Given the description of an element on the screen output the (x, y) to click on. 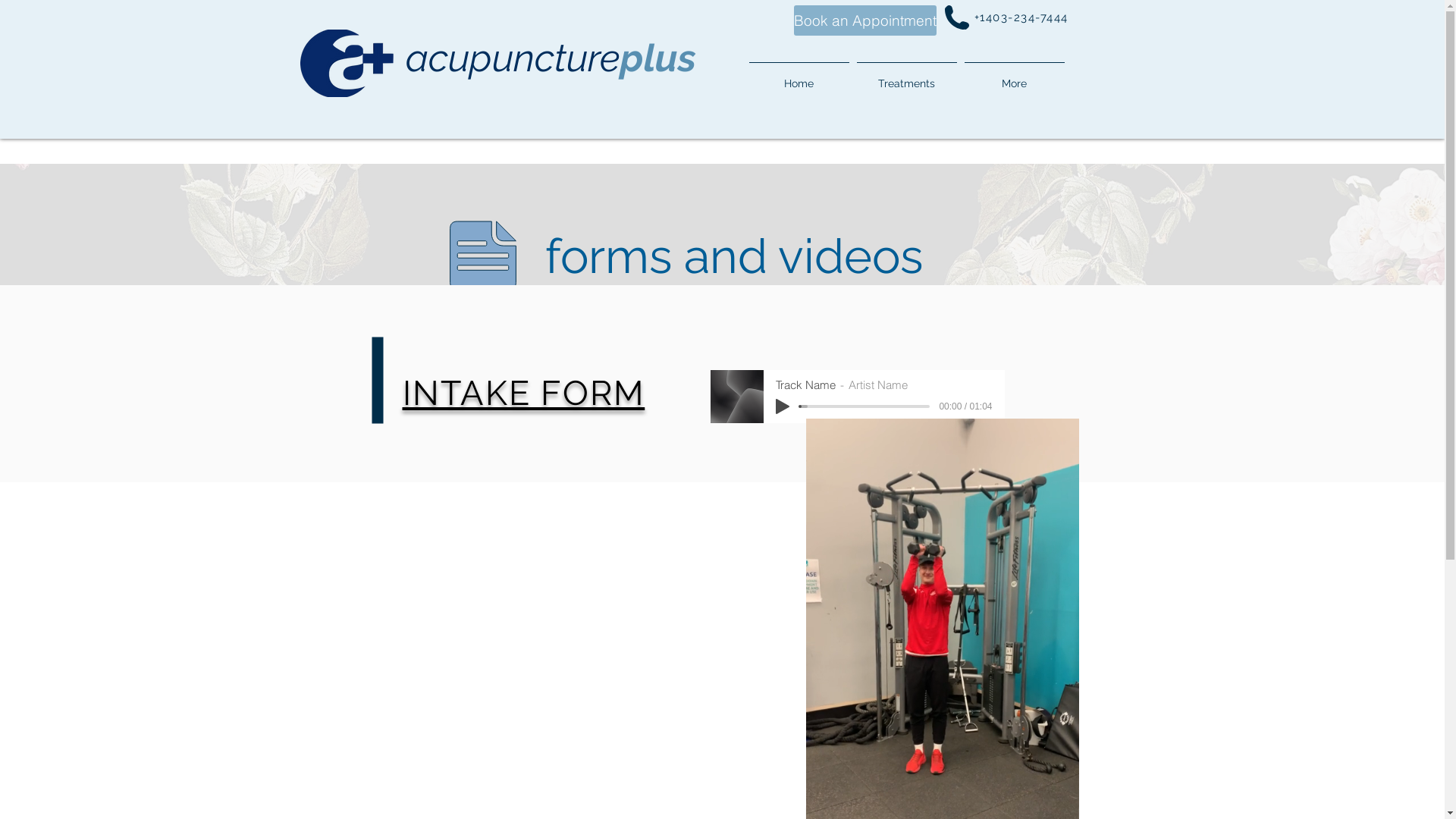
Acupuncture Plus Logo.png Element type: hover (352, 63)
Treatments Element type: text (906, 76)
INTAKE FORM Element type: text (522, 392)
Home Element type: text (798, 76)
Book an Appointment Element type: text (864, 20)
